Given the description of an element on the screen output the (x, y) to click on. 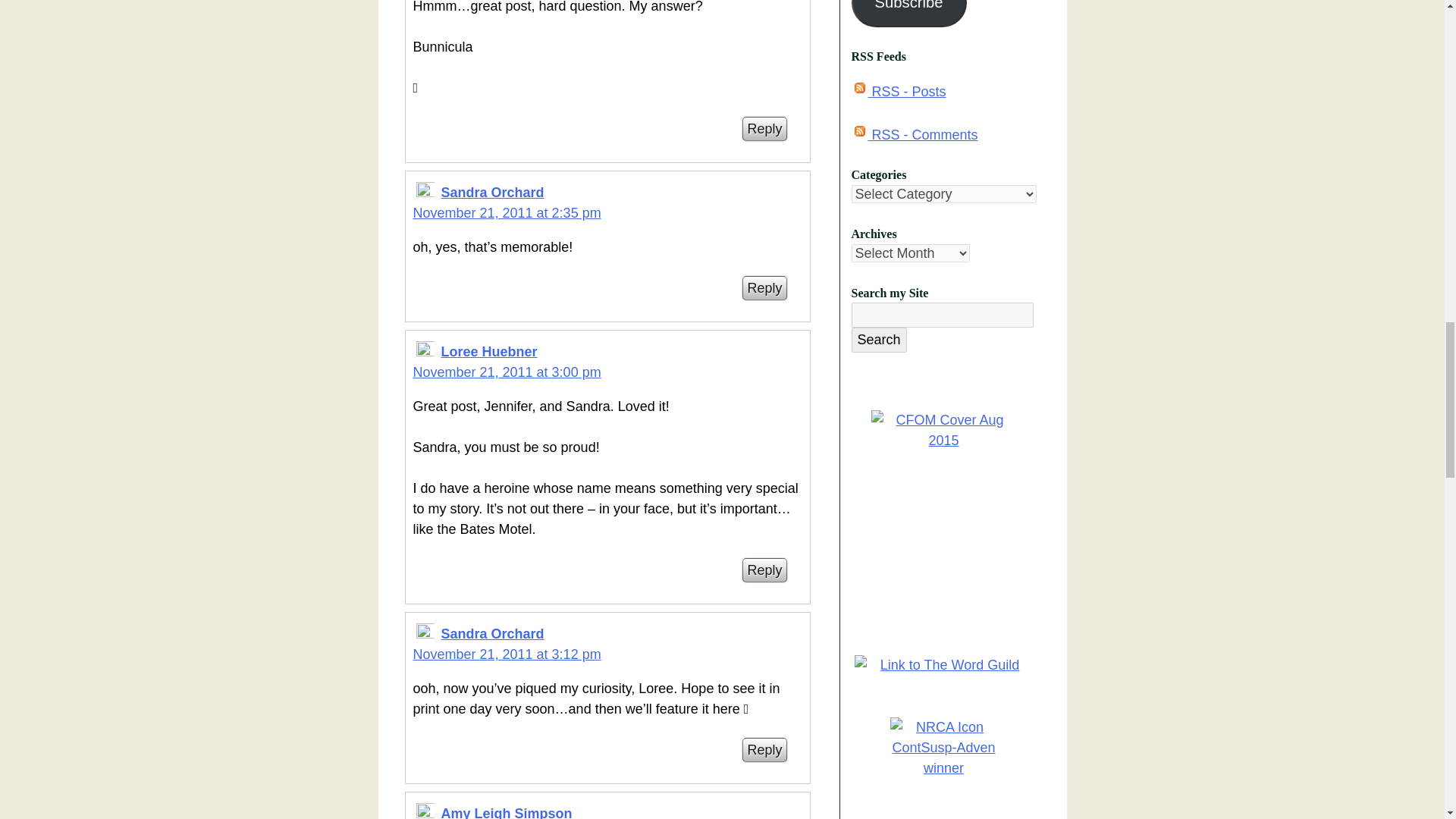
Search (877, 339)
